Given the description of an element on the screen output the (x, y) to click on. 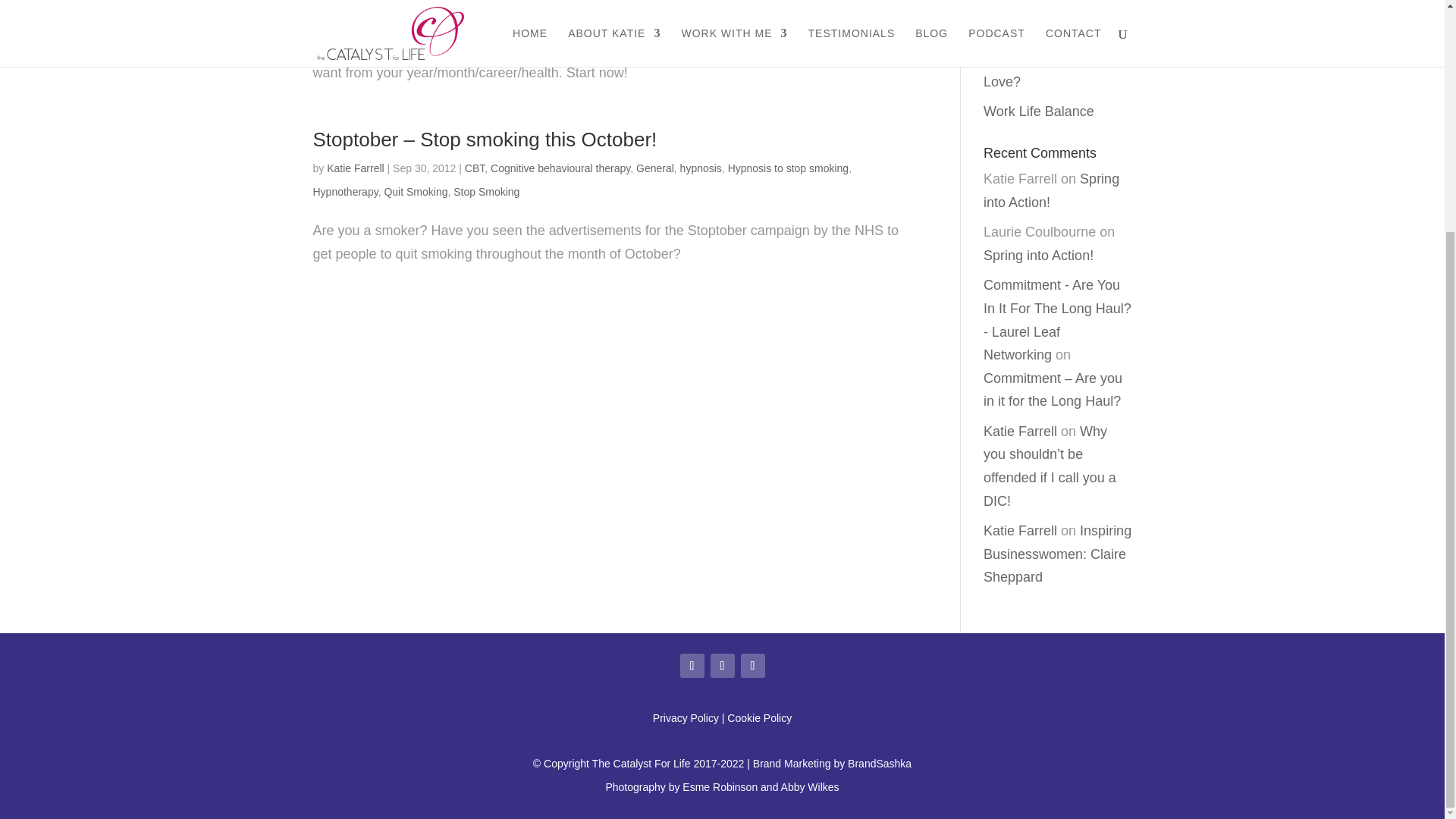
Follow on Facebook (691, 665)
Follow on Twitter (721, 665)
Follow on LinkedIn (751, 665)
Posts by Katie Farrell (355, 168)
